Given the description of an element on the screen output the (x, y) to click on. 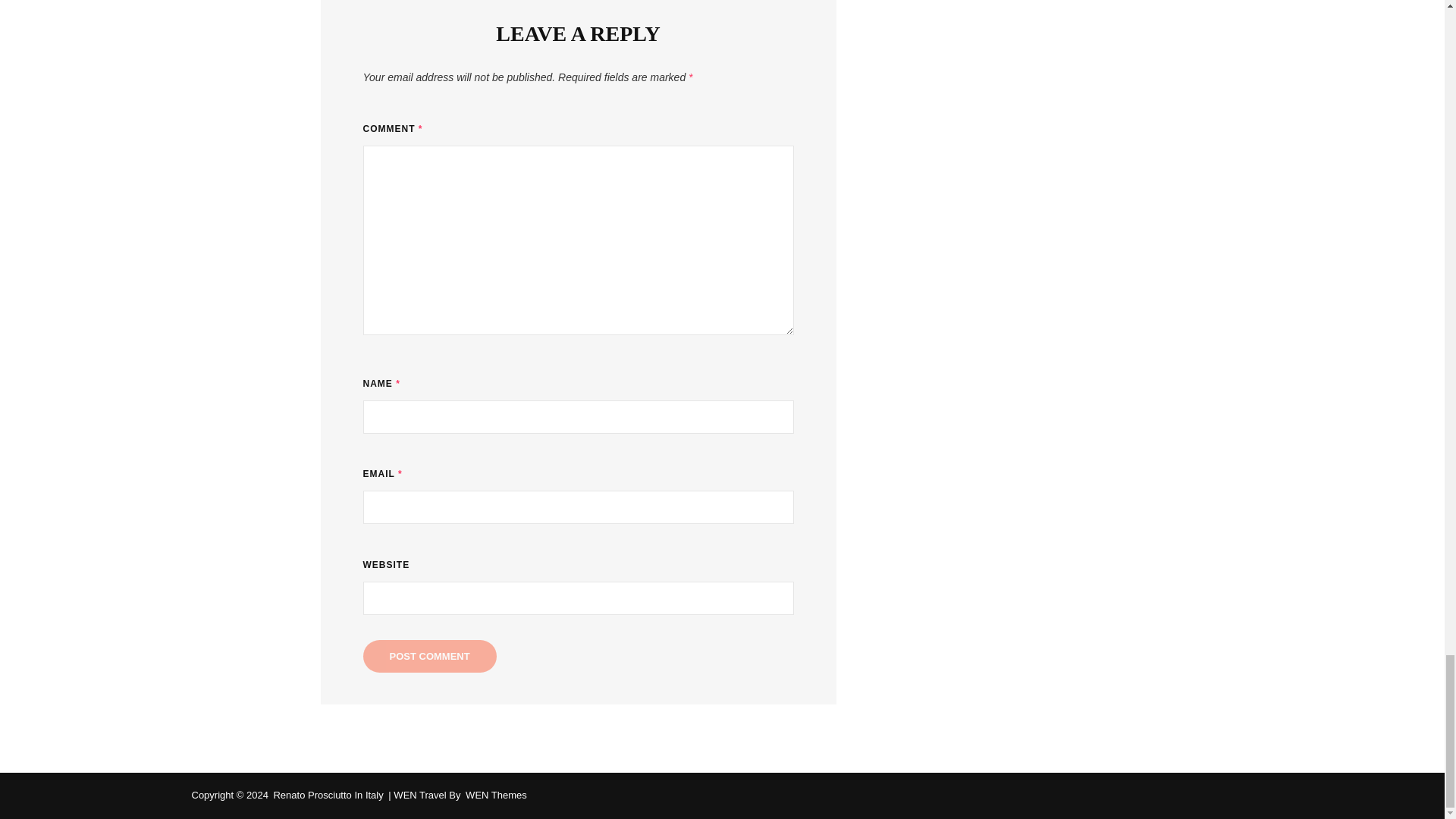
Post Comment (429, 655)
